Given the description of an element on the screen output the (x, y) to click on. 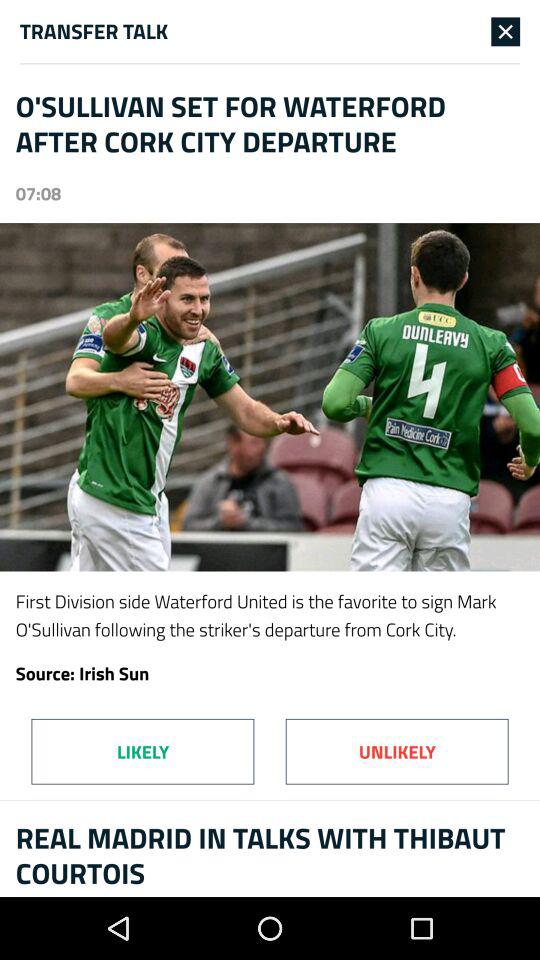
click icon next to the unlikely (142, 751)
